Given the description of an element on the screen output the (x, y) to click on. 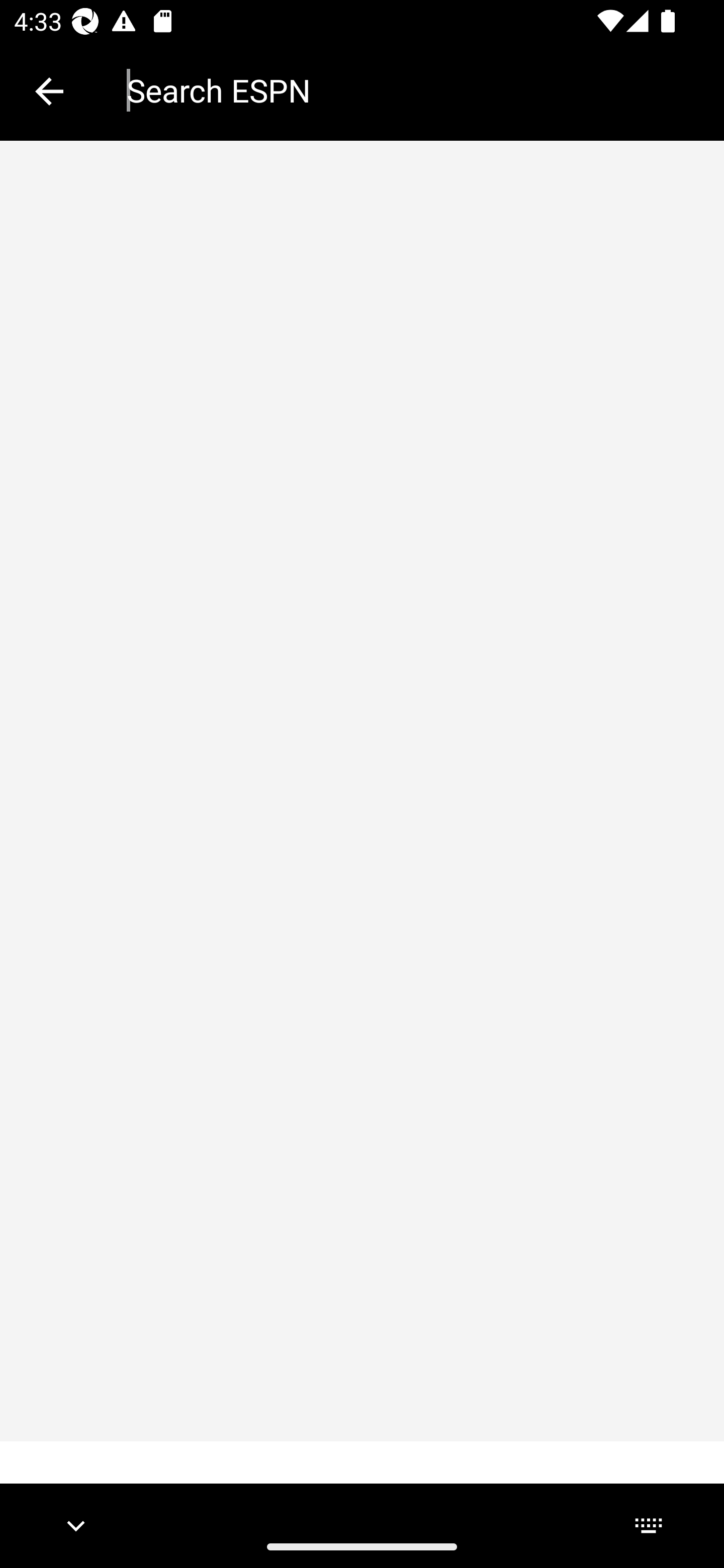
Collapse (49, 91)
Search ESPN (411, 90)
